Given the description of an element on the screen output the (x, y) to click on. 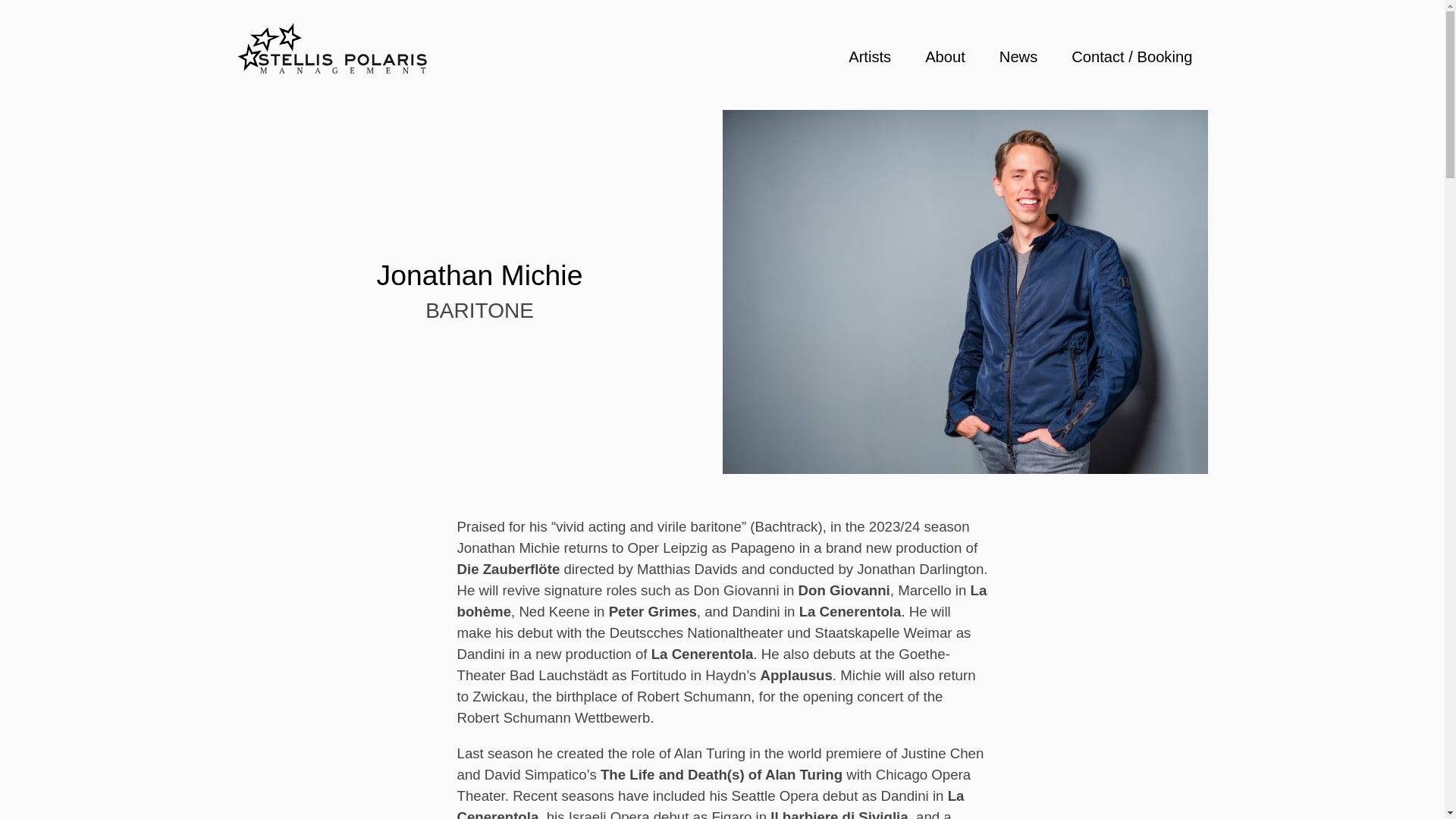
Artists (868, 56)
News (1018, 56)
About (944, 56)
